Given the description of an element on the screen output the (x, y) to click on. 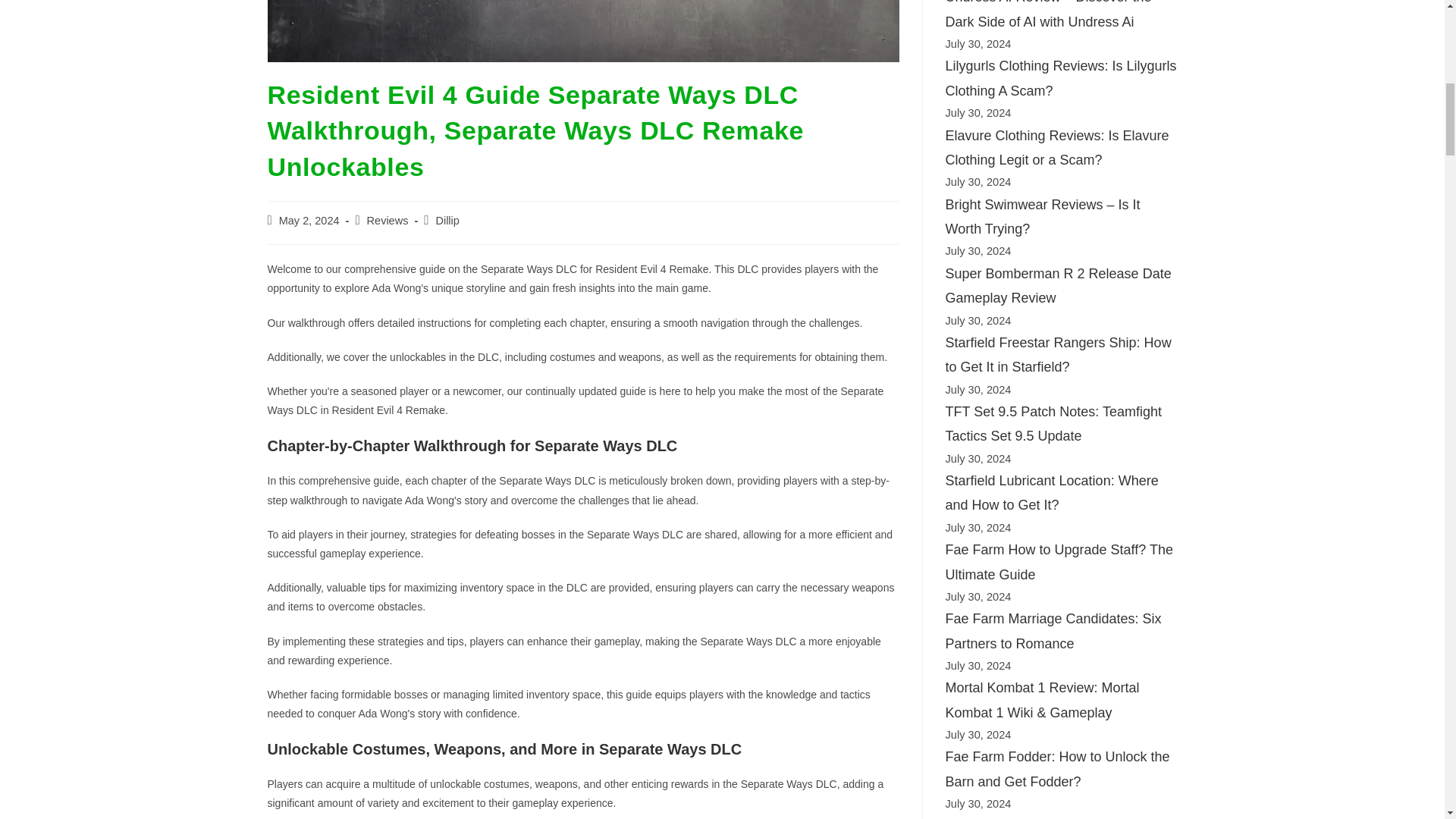
Posts by Dillip (446, 220)
Dillip (446, 220)
Reviews (387, 220)
